Given the description of an element on the screen output the (x, y) to click on. 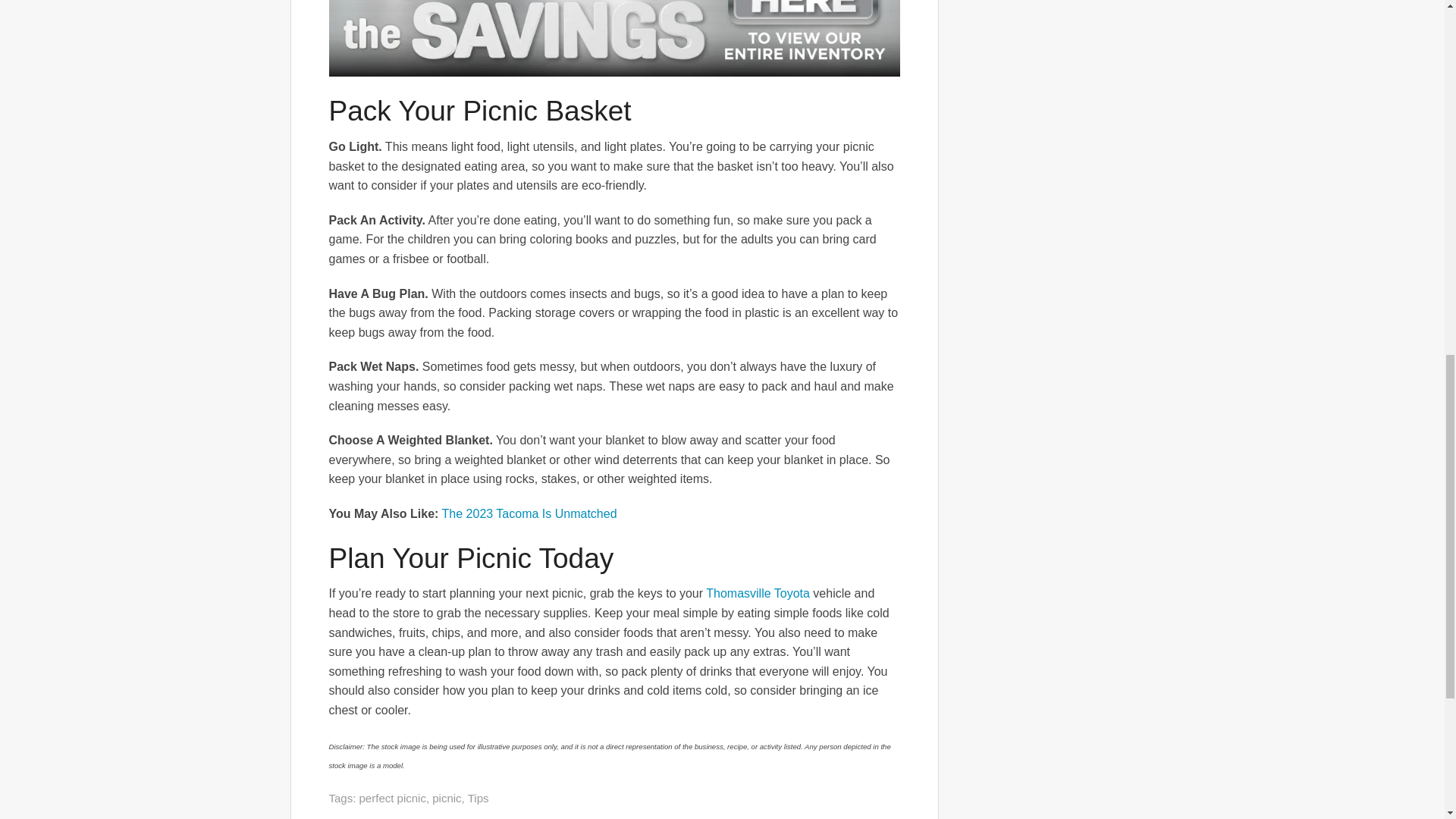
Tips (478, 797)
picnic (446, 797)
The 2023 Tacoma Is Unmatched (529, 513)
perfect picnic (392, 797)
Thomasville Toyota (757, 593)
